Given the description of an element on the screen output the (x, y) to click on. 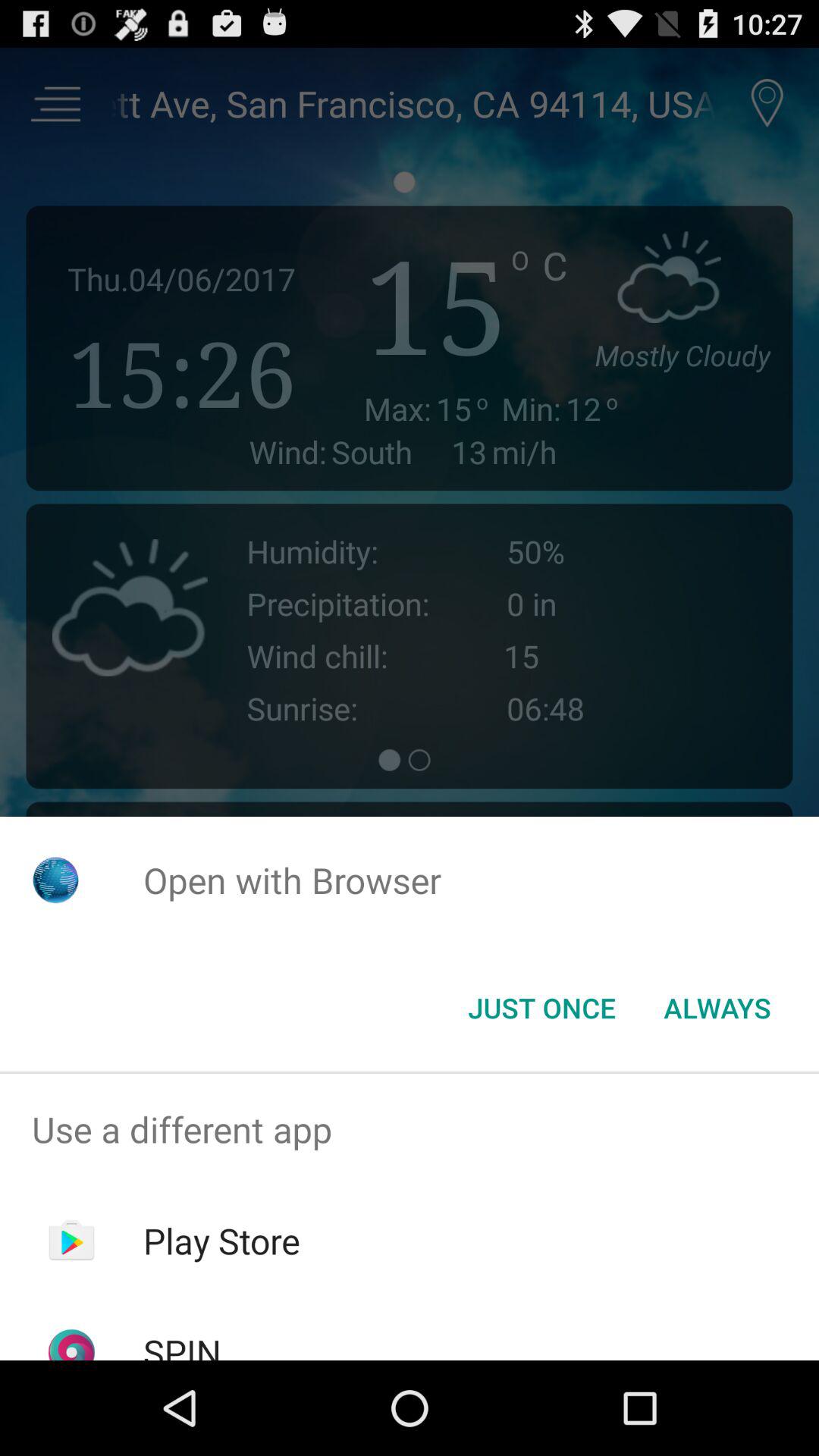
turn off always icon (717, 1007)
